Given the description of an element on the screen output the (x, y) to click on. 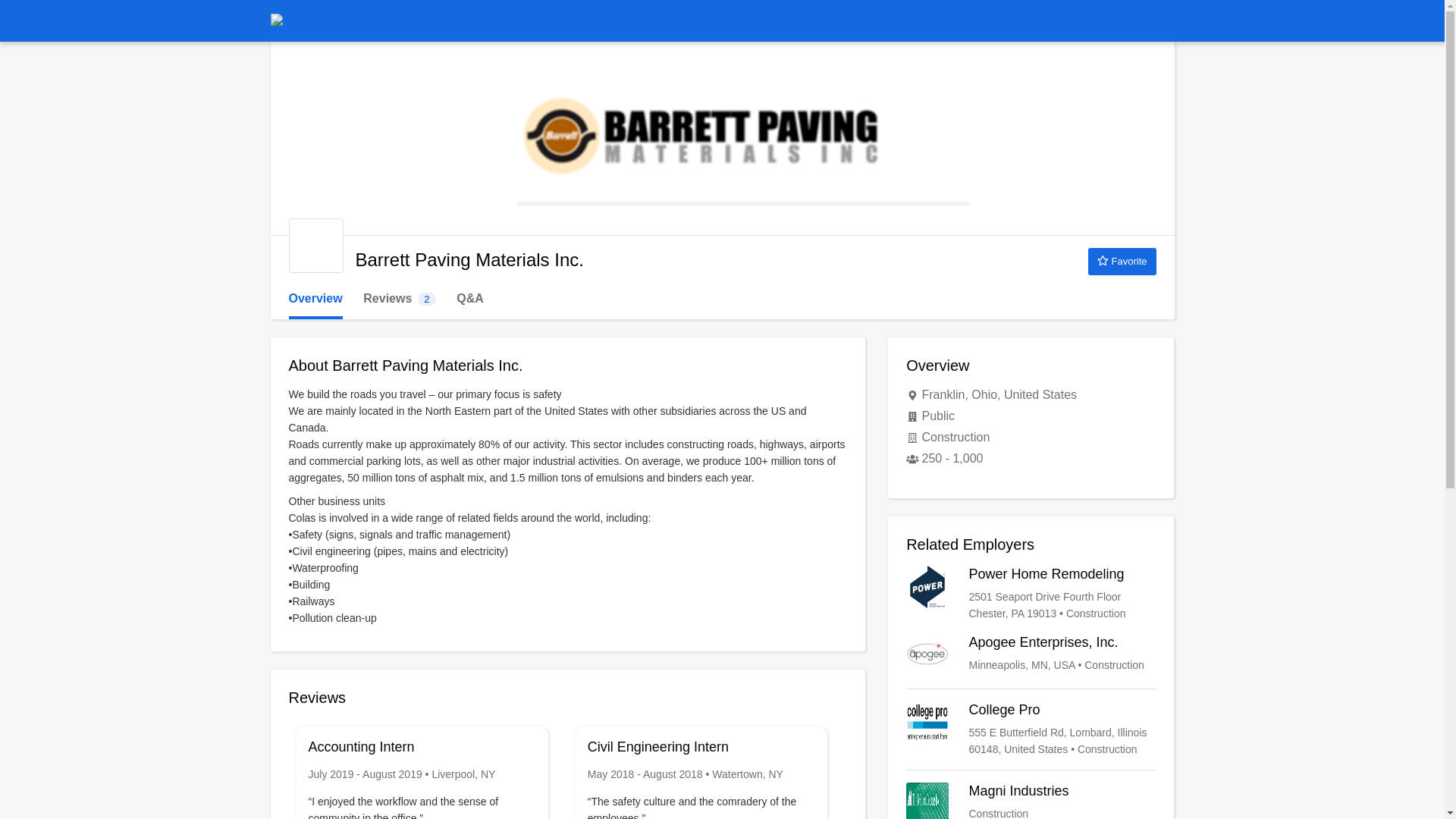
Apogee Enterprises, Inc. (1030, 654)
Overview (315, 298)
Barrett Paving Materials Inc. (398, 298)
Magni Industries (315, 245)
Favorite (1030, 800)
Power Home Remodeling (1030, 800)
College Pro (1121, 261)
